Given the description of an element on the screen output the (x, y) to click on. 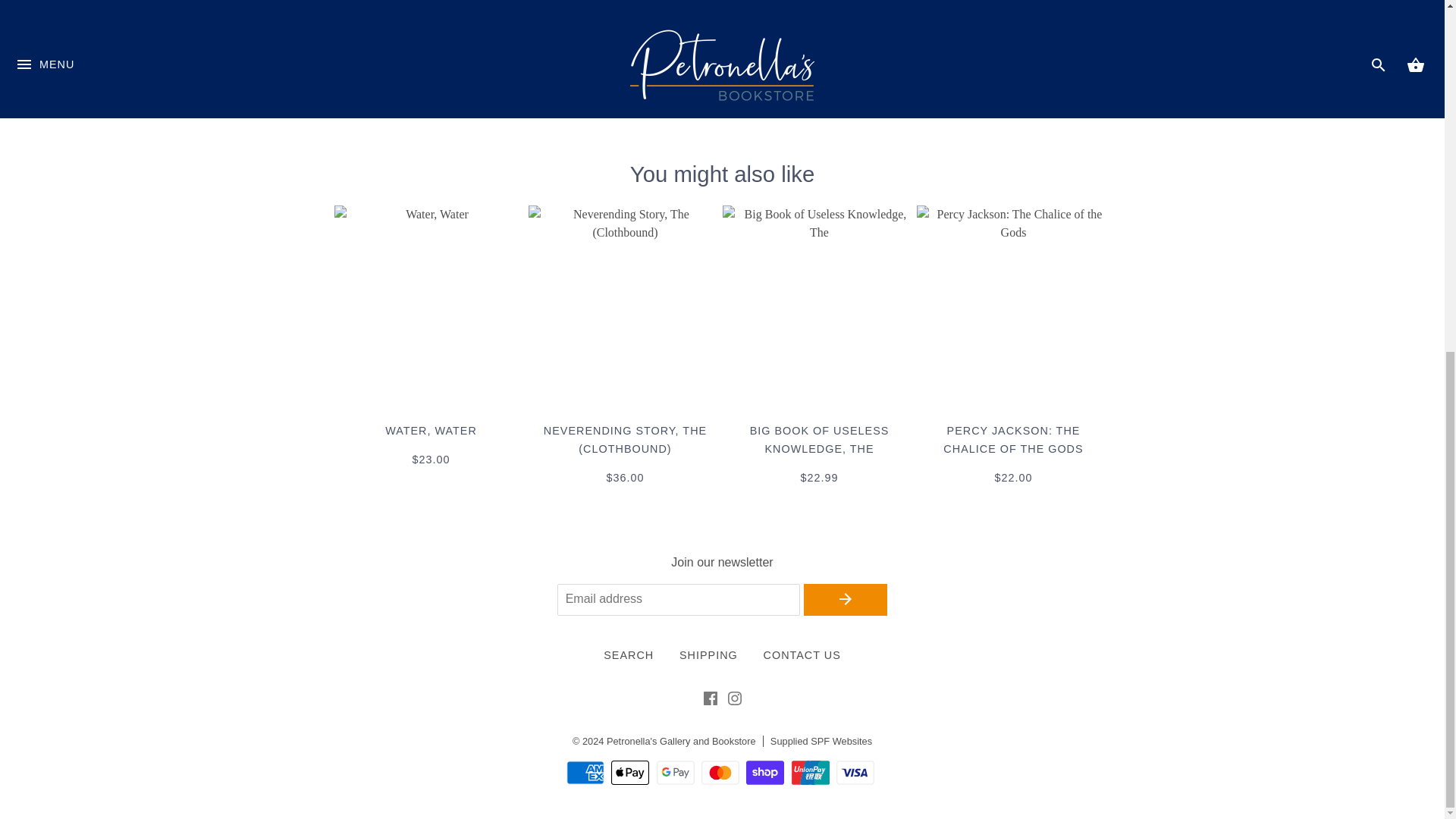
SPF (821, 740)
Email this product to somebody (855, 96)
Search (628, 654)
Instagram (734, 701)
Pin the main image (831, 96)
Contact Us (801, 654)
Share on Twitter (806, 96)
Facebook (710, 701)
Shipping (708, 654)
Share on Facebook (781, 96)
